Given the description of an element on the screen output the (x, y) to click on. 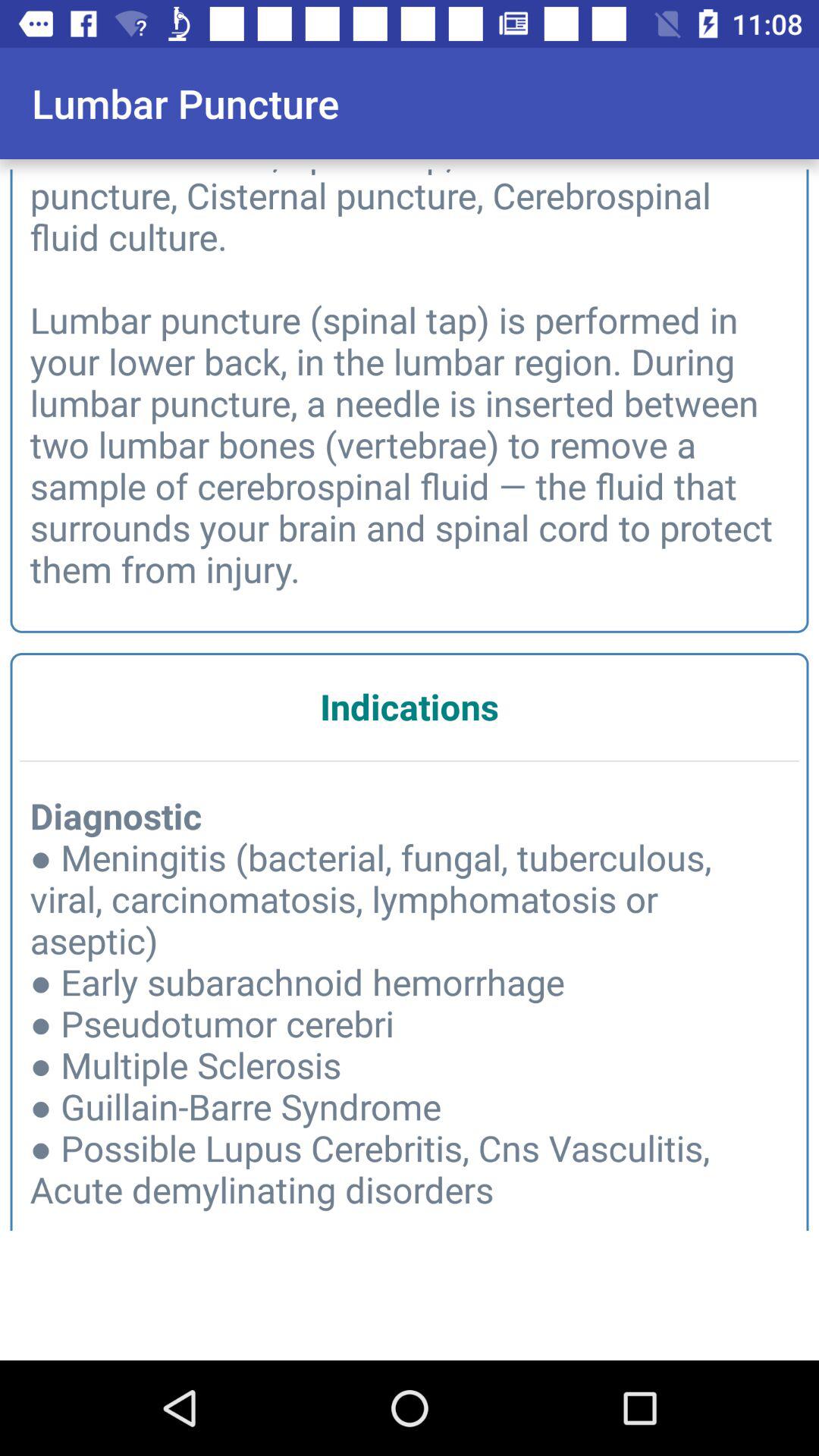
open app below lumbar puncture (409, 376)
